Given the description of an element on the screen output the (x, y) to click on. 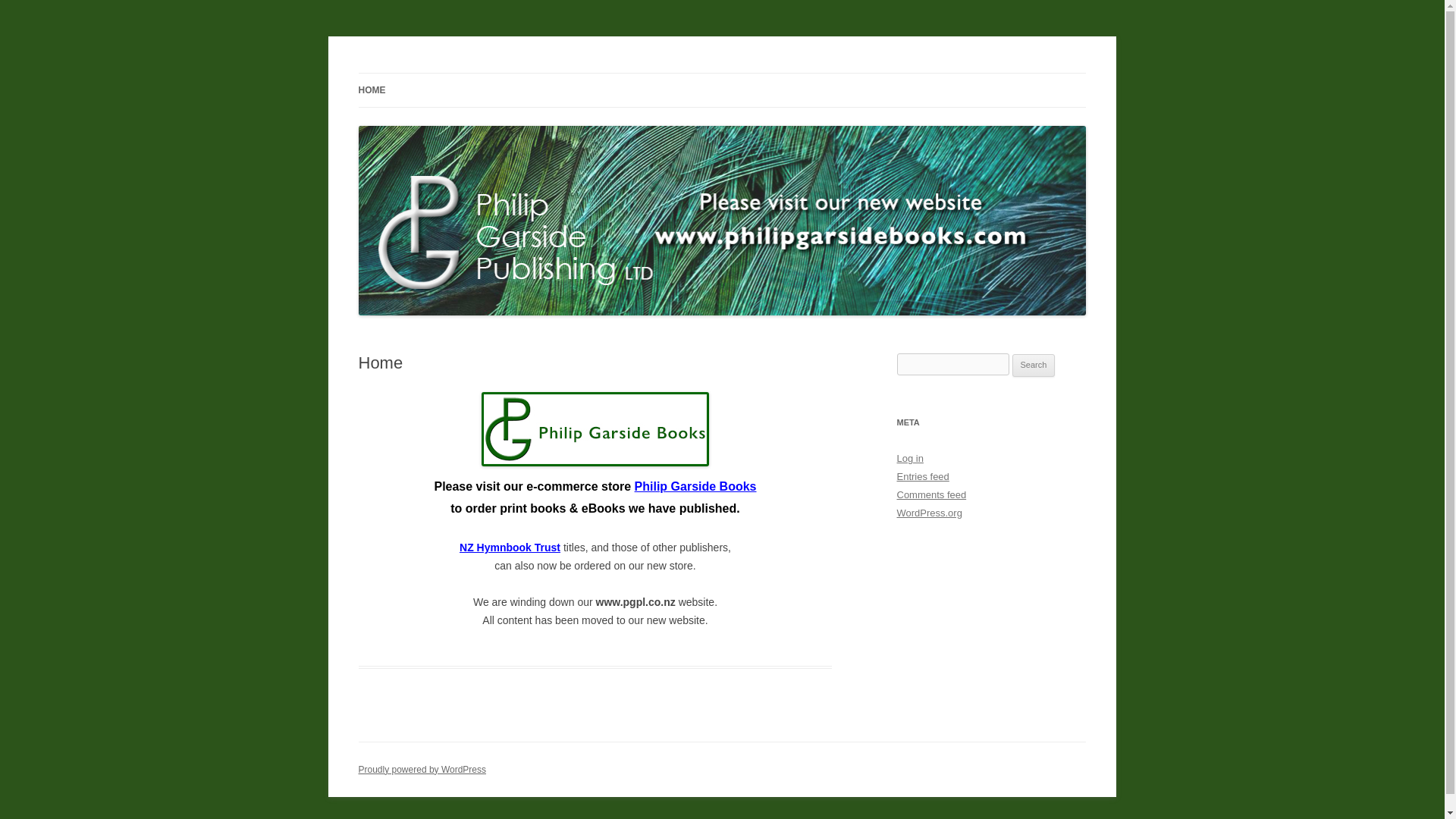
Philip Garside Books (695, 486)
WordPress.org (928, 512)
Log in (909, 458)
Entries feed (922, 476)
Search (1033, 364)
Search (1033, 364)
NZ Hymnbook Trust (510, 547)
Comments feed (931, 494)
Philip Garside Publishing Limited (514, 72)
